Given the description of an element on the screen output the (x, y) to click on. 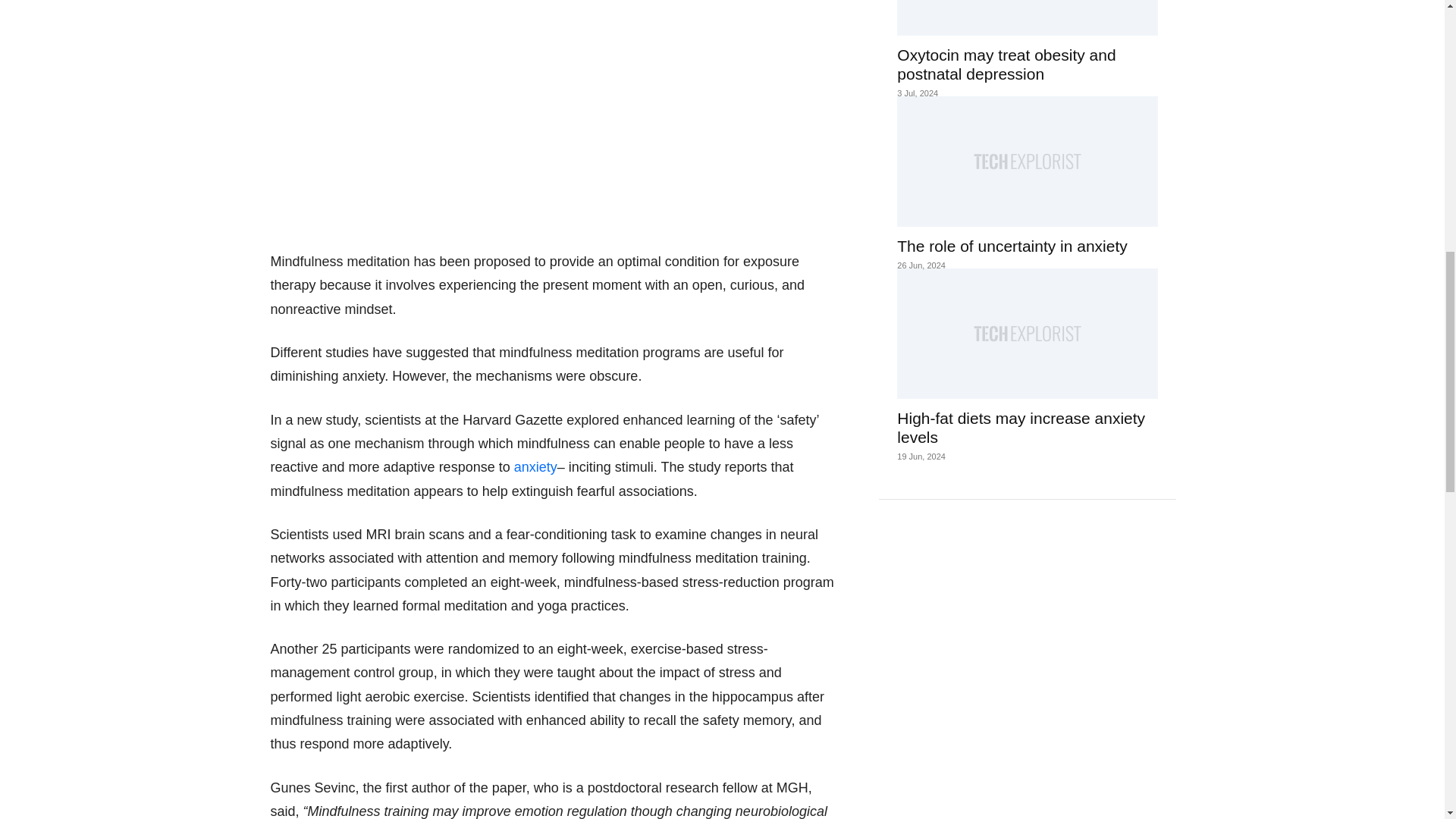
Oxytocin may treat obesity and postnatal depression (1026, 18)
anxiety (535, 467)
